Given the description of an element on the screen output the (x, y) to click on. 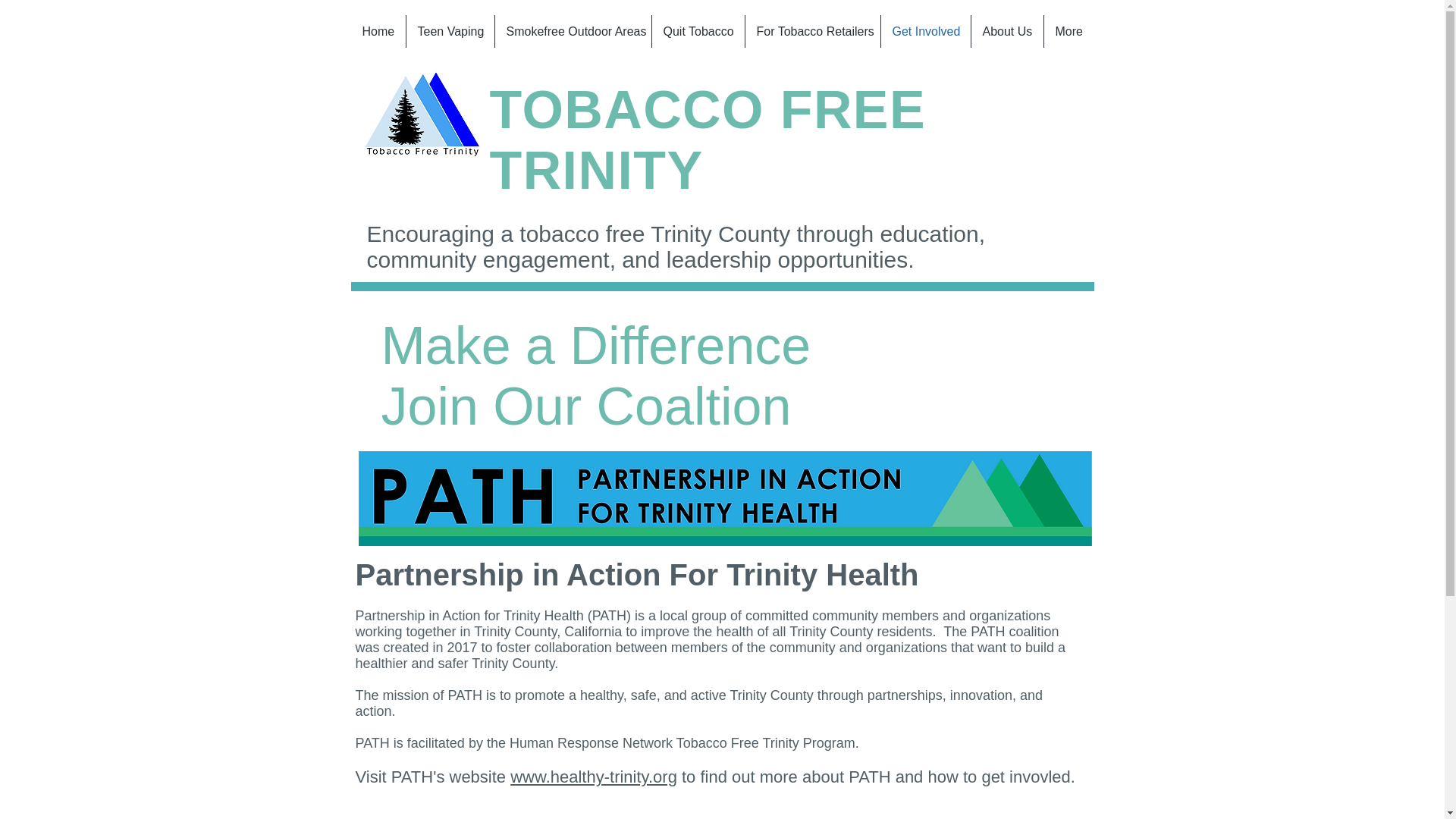
Quit Tobacco (698, 31)
Smokefree Outdoor Areas (572, 31)
www.healthy-trinity.org (594, 776)
Teen Vaping (450, 31)
About Us (1006, 31)
For Tobacco Retailers (811, 31)
Home (377, 31)
Get Involved (925, 31)
